Given the description of an element on the screen output the (x, y) to click on. 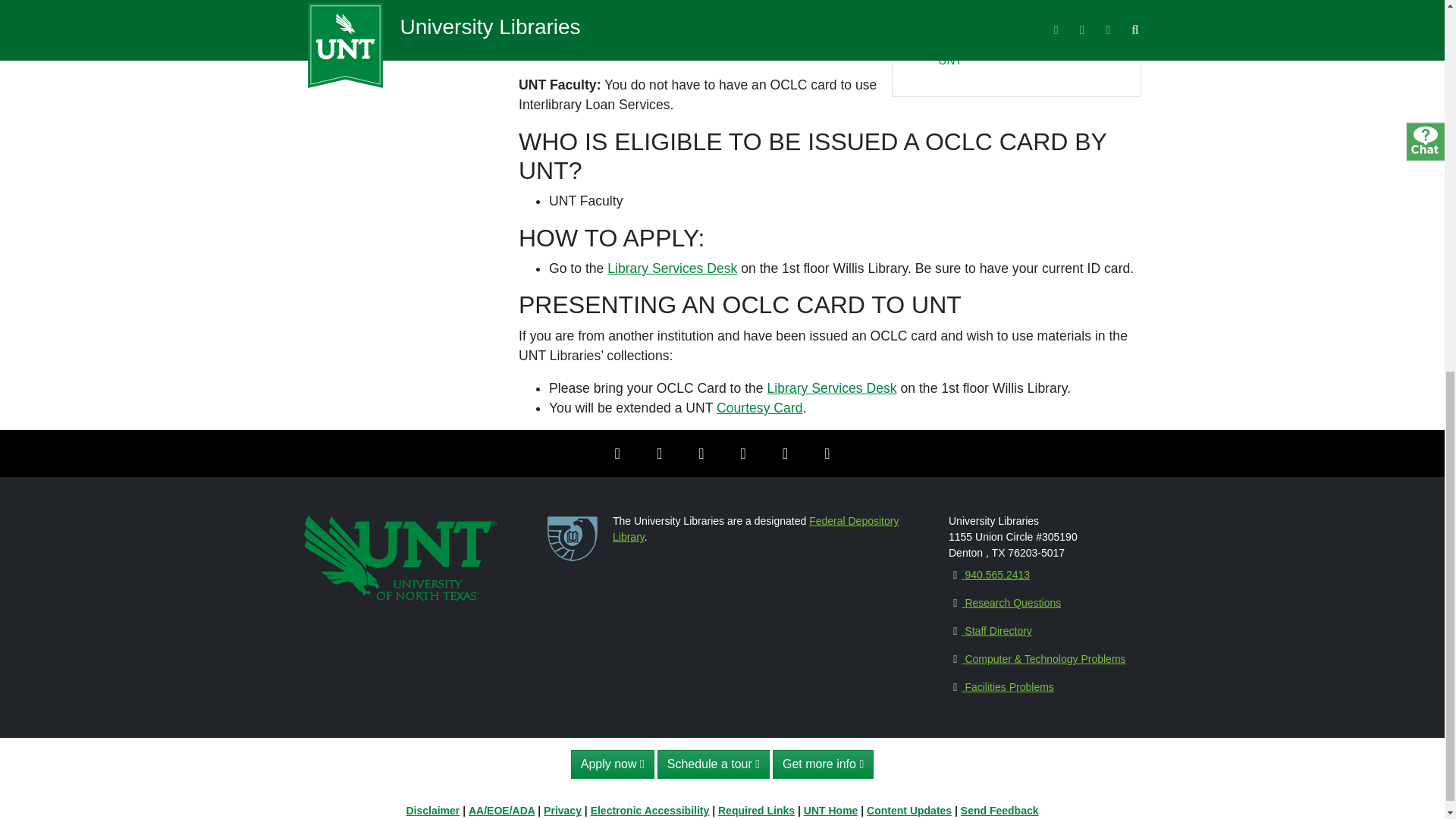
WHO IS ELIGIBLE TO BE ISSUED A OCLC CARD BY UNT? (1029, 7)
Library Services Desk (671, 268)
HOW TO APPLY: (982, 24)
PRESENTING AN OCLC CARD TO UNT (1030, 51)
Courtesy Card (759, 407)
Library Services Desk (831, 387)
participating institutions (683, 22)
